Given the description of an element on the screen output the (x, y) to click on. 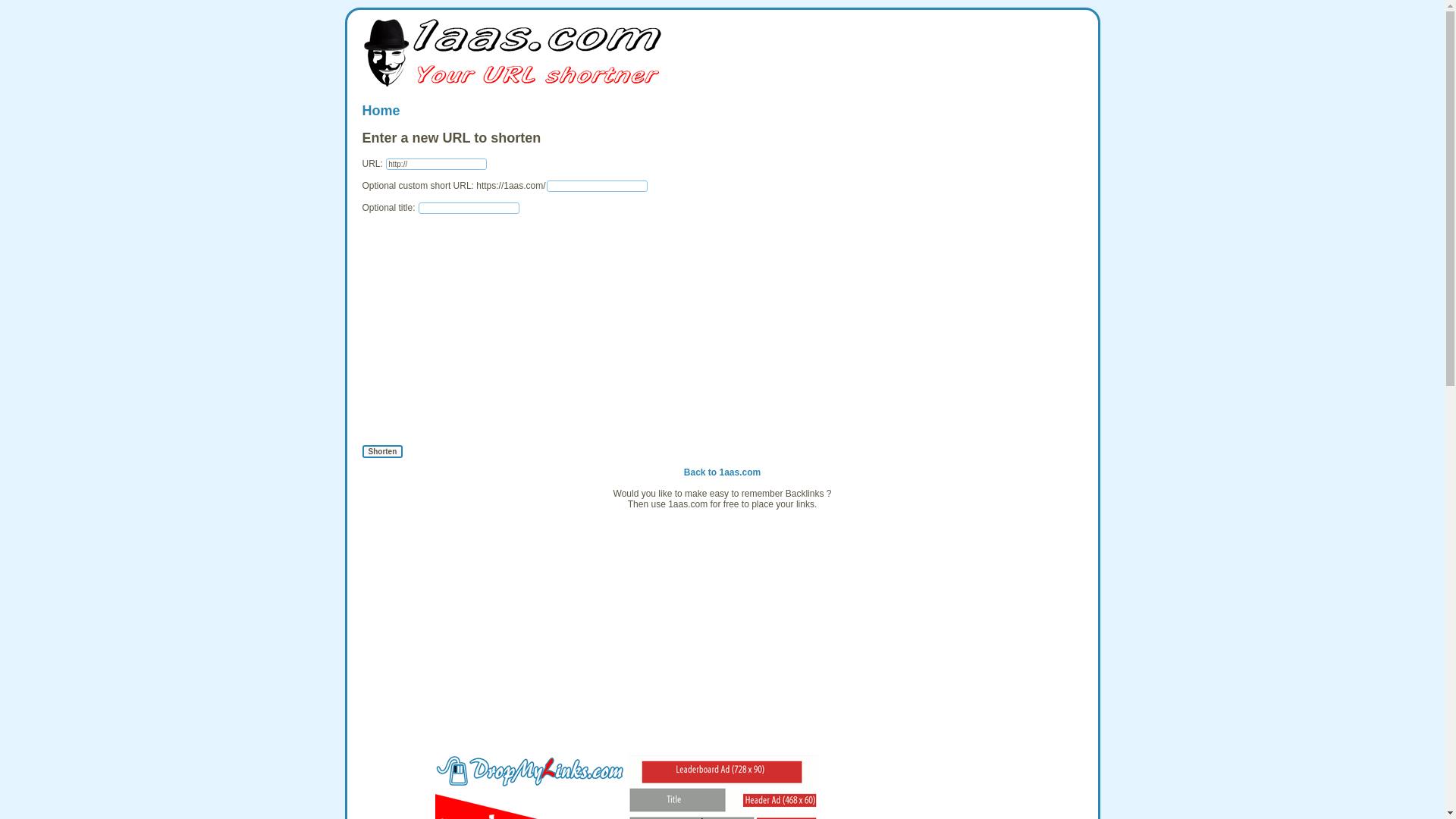
Advertisement Element type: hover (722, 639)
Advertisement Element type: hover (721, 525)
Shorten Element type: text (382, 451)
Back to 1aas.com Element type: text (722, 472)
Home Element type: text (381, 110)
Advertisement Element type: hover (722, 329)
1aas.com Element type: hover (513, 51)
